Given the description of an element on the screen output the (x, y) to click on. 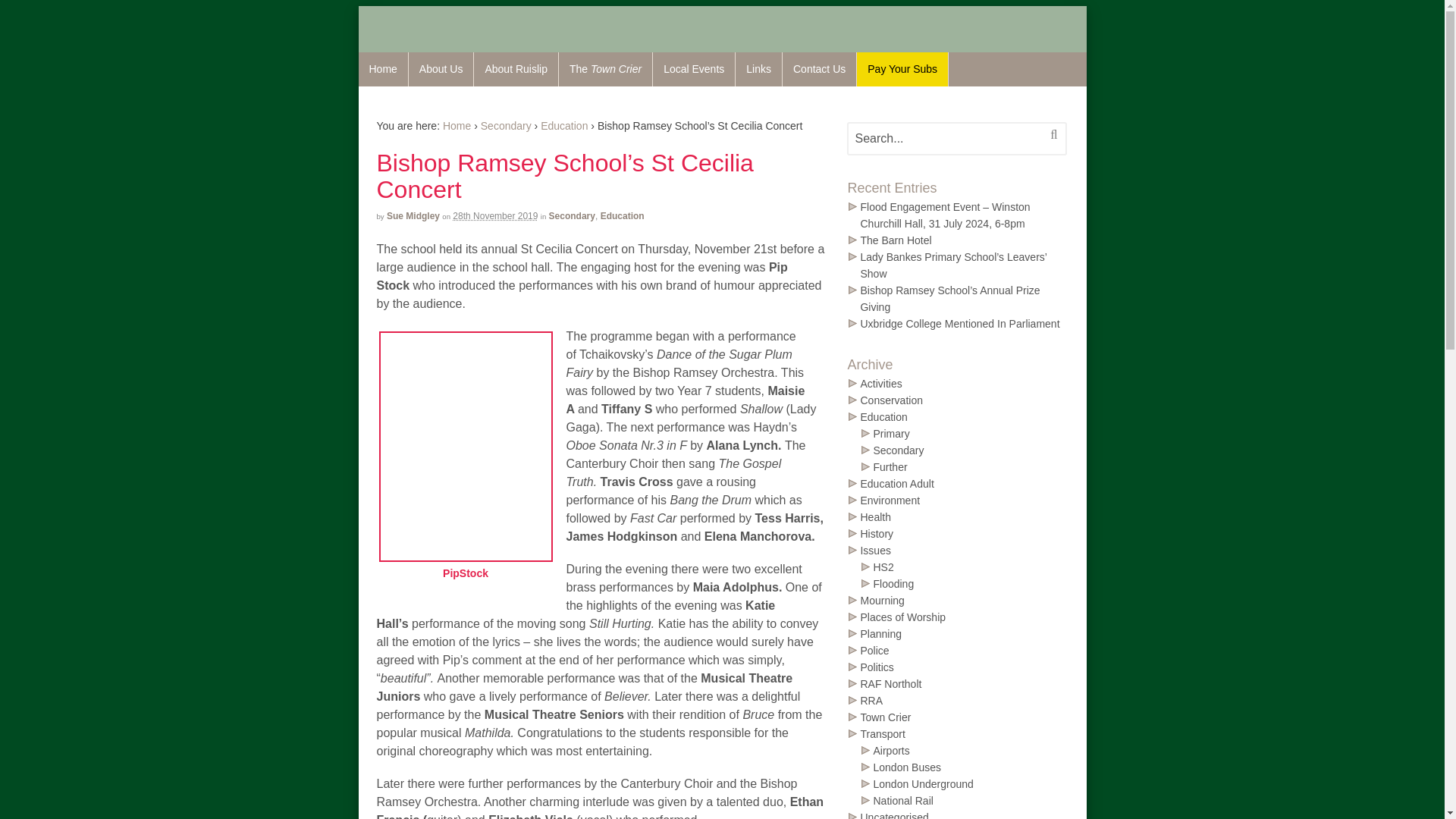
View all posts in Education (564, 125)
Home (382, 69)
View all posts in Secondary (505, 125)
About Us (441, 69)
Search... (945, 138)
Posts by Sue Midgley (413, 215)
Online Membership Payment (902, 69)
About Ruislip (515, 69)
